Given the description of an element on the screen output the (x, y) to click on. 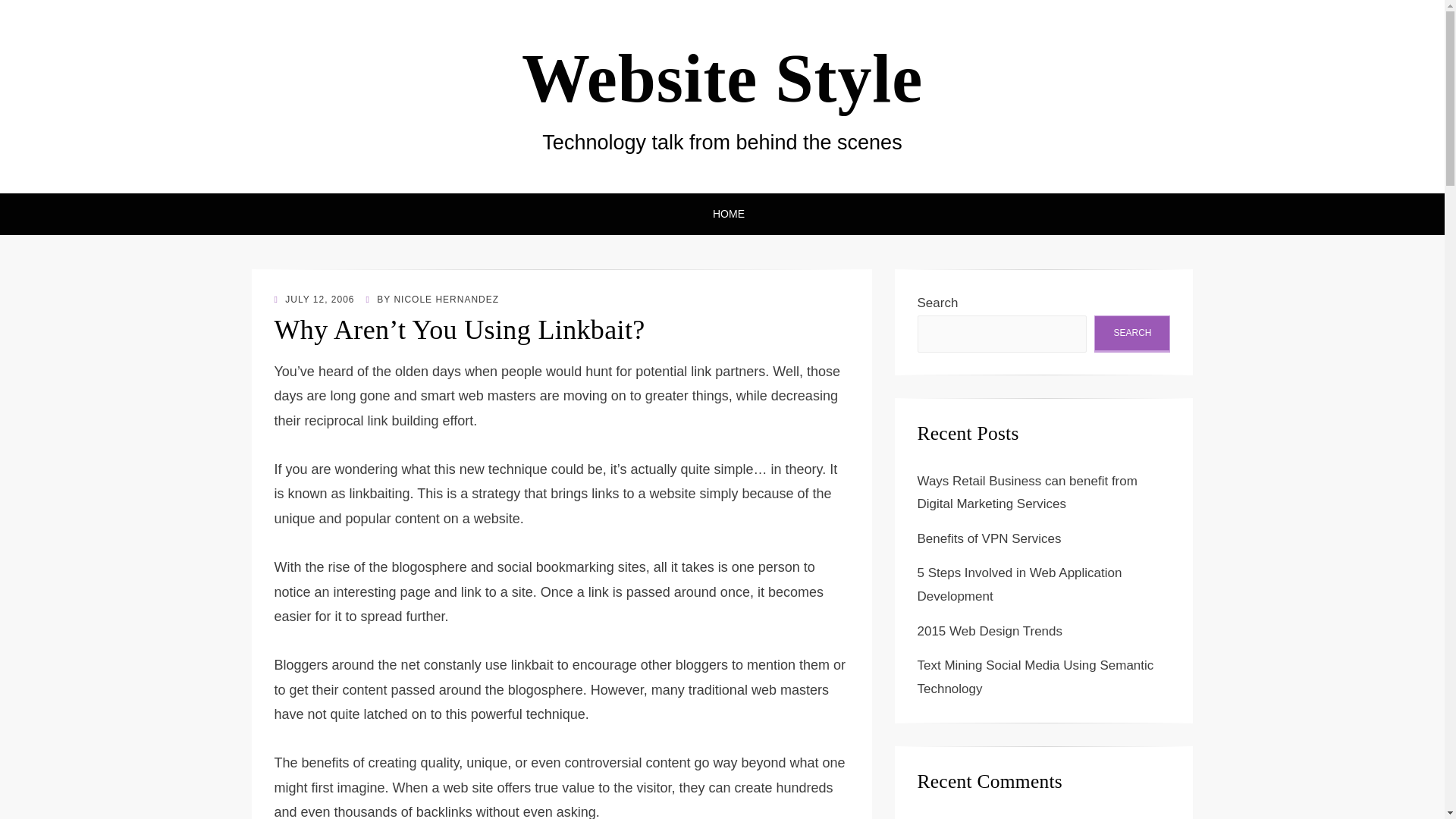
HOME (722, 213)
NICOLE HERNANDEZ (446, 299)
SEARCH (1132, 333)
Benefits of VPN Services (989, 538)
2015 Web Design Trends (989, 631)
Text Mining Social Media Using Semantic Technology (1035, 677)
5 Steps Involved in Web Application Development (1019, 584)
Website Style (722, 78)
Website Style (722, 78)
JULY 12, 2006 (315, 299)
